Given the description of an element on the screen output the (x, y) to click on. 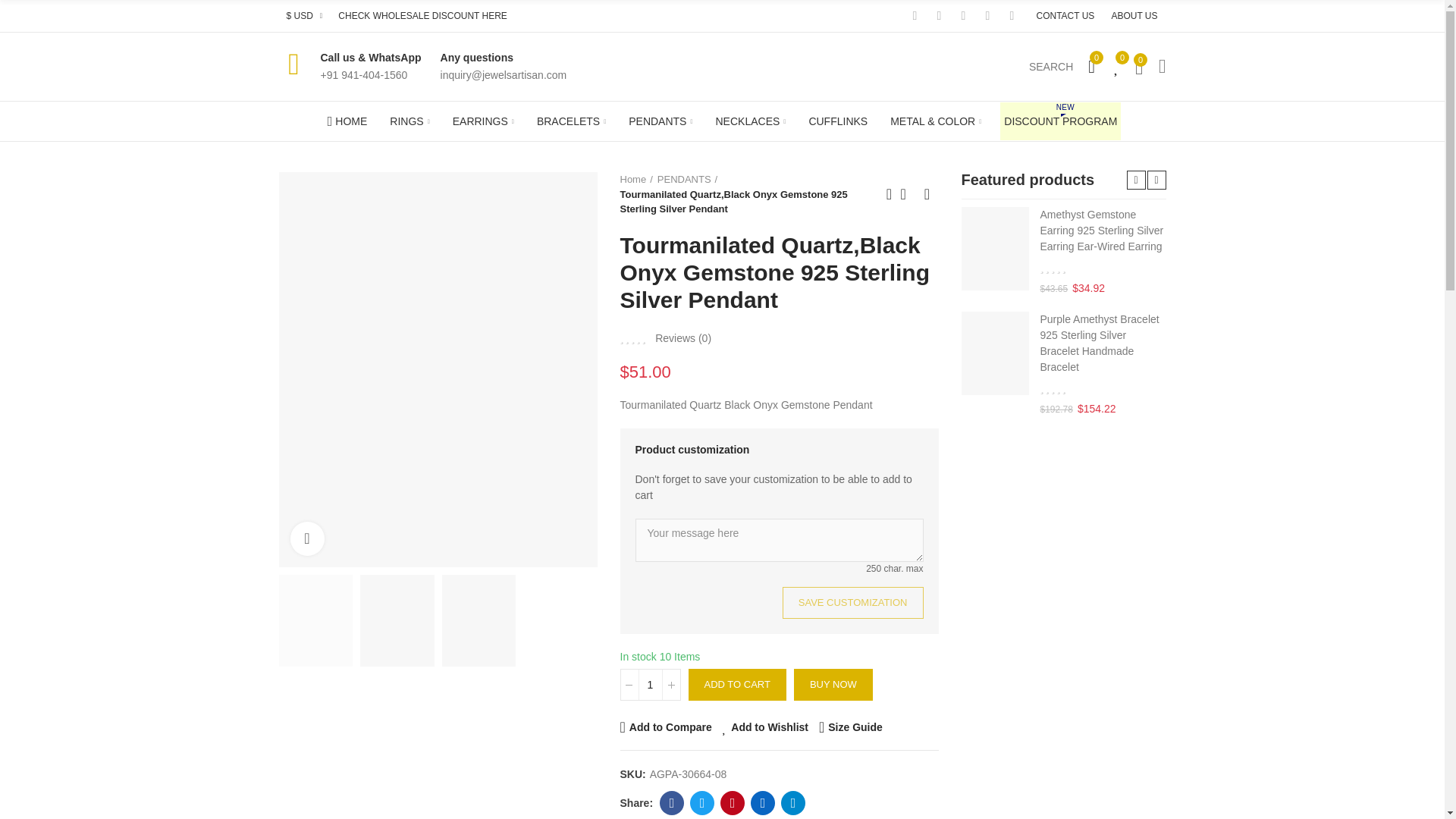
RINGS (408, 120)
ABOUT US (1134, 15)
EARRINGS (483, 120)
Home (347, 121)
1 (650, 685)
CHECK WHOLESALE DISCOUNT HERE (421, 15)
HOME (347, 121)
SEARCH (1051, 66)
CONTACT US (1064, 15)
Search (1051, 66)
